Given the description of an element on the screen output the (x, y) to click on. 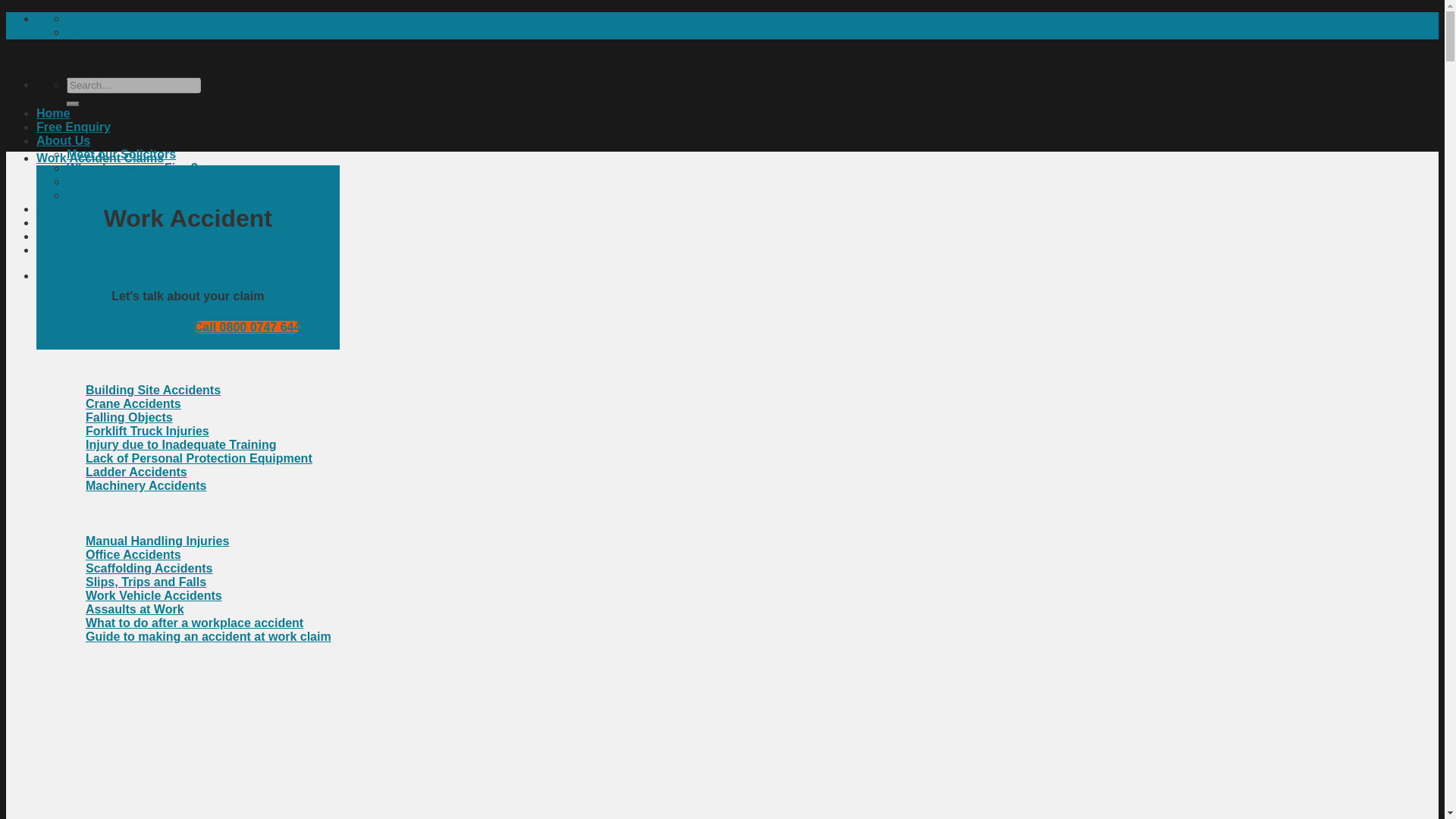
Scaffolding Accidents (148, 567)
Manual Handling Injuries (156, 540)
Building Site Accidents (153, 390)
Forklift Truck Injuries (147, 431)
FAQs (82, 195)
Lack of Personal Protection Equipment (199, 458)
No Win No Fee (79, 208)
Machinery Accidents (145, 485)
Slips, Trips and Falls (145, 581)
Guide to making an accident at work claim (208, 635)
Work Accident Claims (99, 157)
0800 0747 644 (107, 31)
Why choose our Firm? (132, 167)
Contact (58, 249)
Ladder Accidents (136, 472)
